Given the description of an element on the screen output the (x, y) to click on. 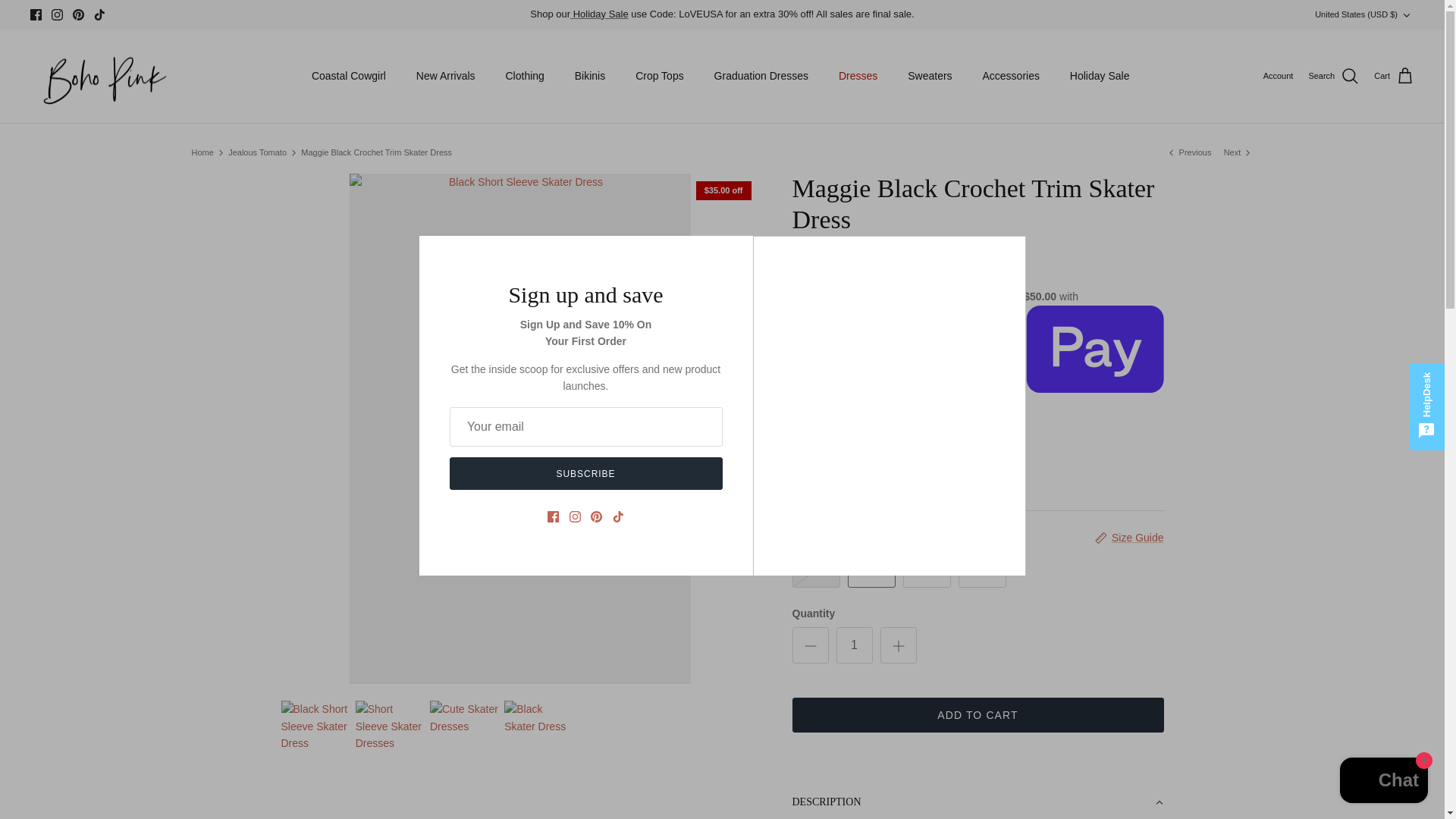
Boho Pink (100, 76)
Instagram (56, 14)
Pinterest (78, 14)
Tiktok (99, 14)
Down (1406, 14)
Holiday Sale (599, 13)
Holiday Sale (599, 13)
1 (853, 645)
RIGHT (741, 428)
Facebook (36, 14)
